Given the description of an element on the screen output the (x, y) to click on. 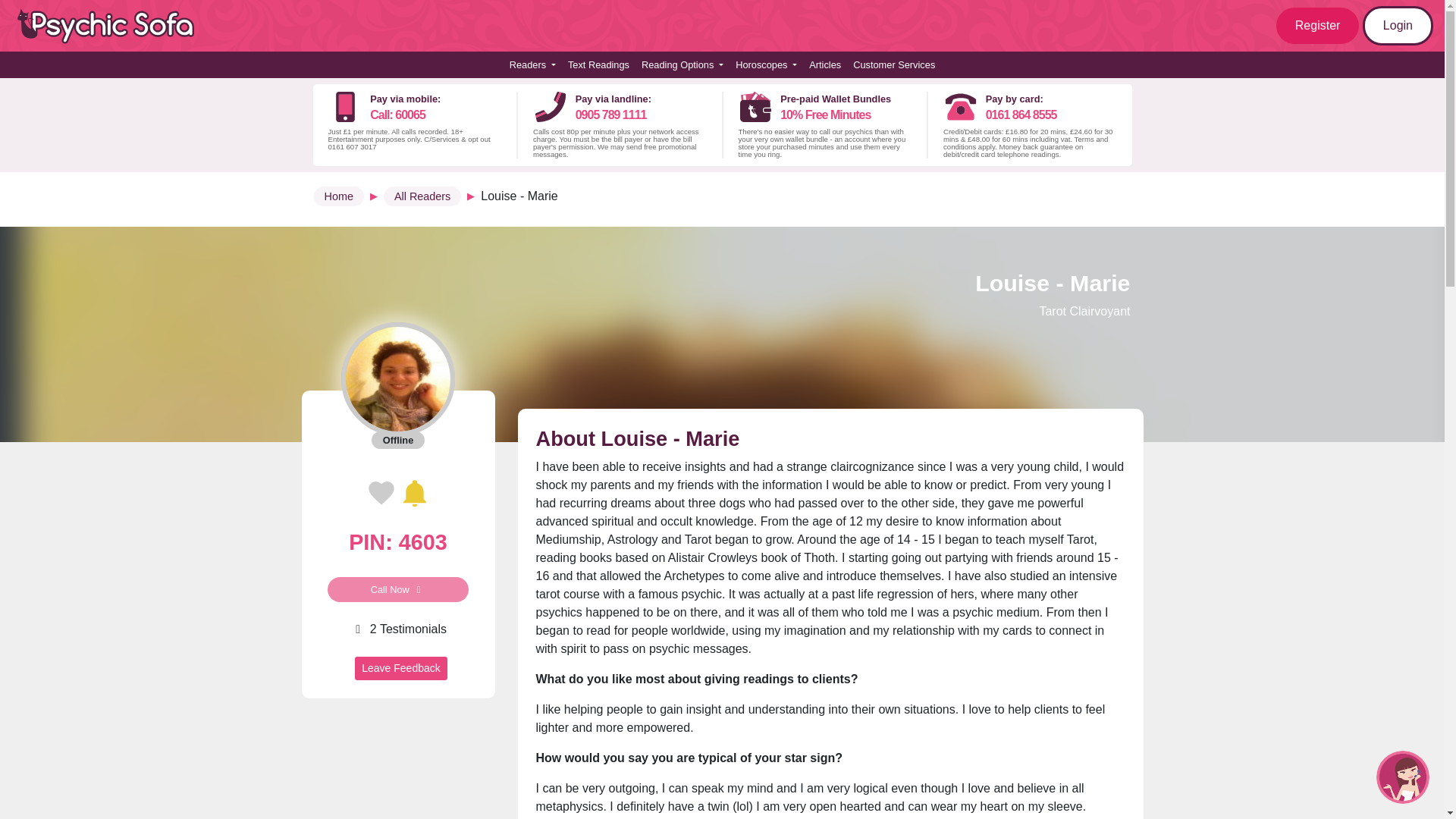
Readers (532, 64)
Psychic Sofa Home Page Link (398, 510)
Reading Options (113, 25)
Login (681, 64)
Horoscopes (1397, 25)
Register (766, 64)
Text Readings (1317, 25)
